Given the description of an element on the screen output the (x, y) to click on. 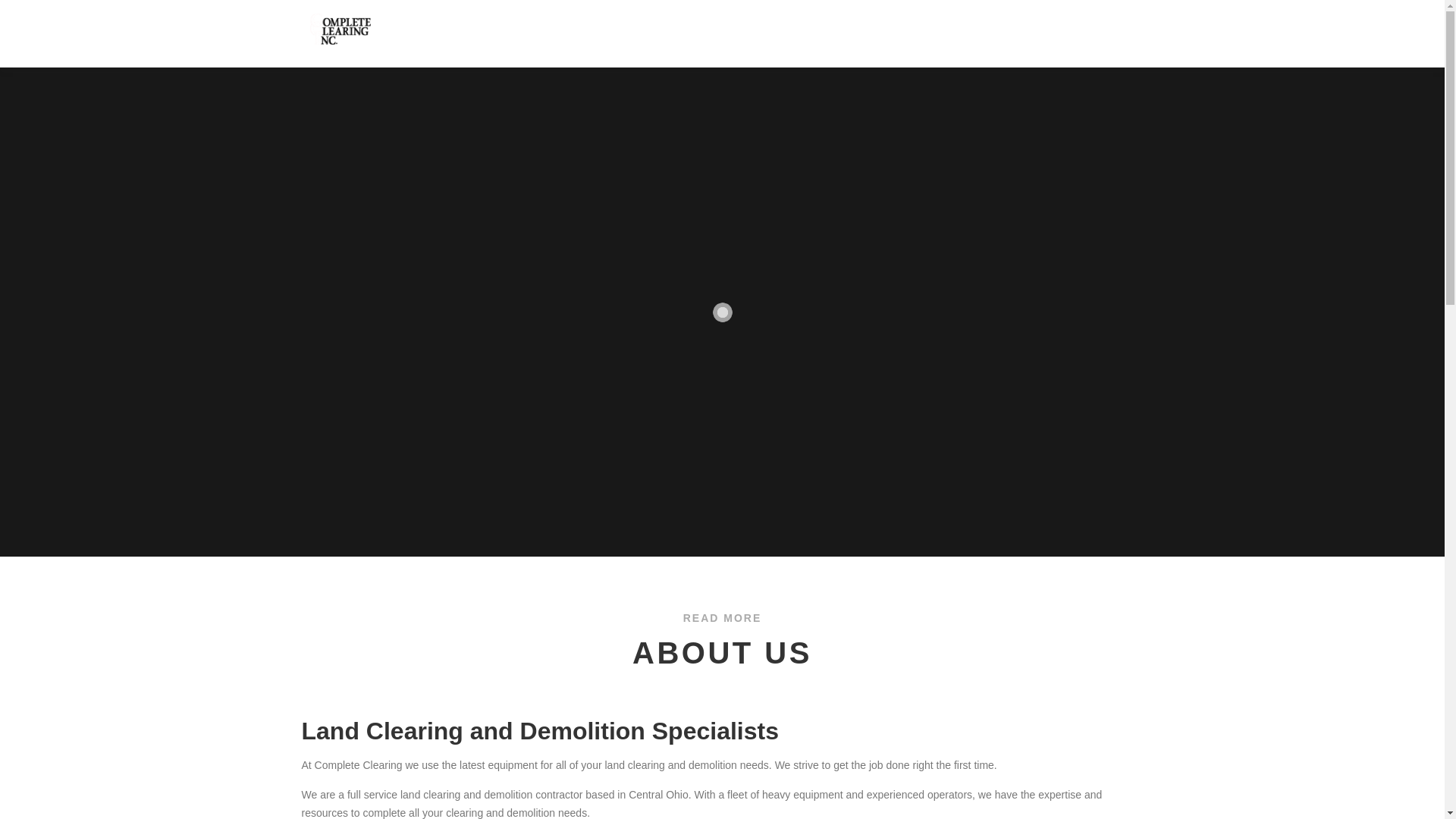
EQUIPMENT (909, 28)
CONTACT US (1100, 28)
ABOUT US (822, 28)
EMPLOYMENT (1006, 28)
